Given the description of an element on the screen output the (x, y) to click on. 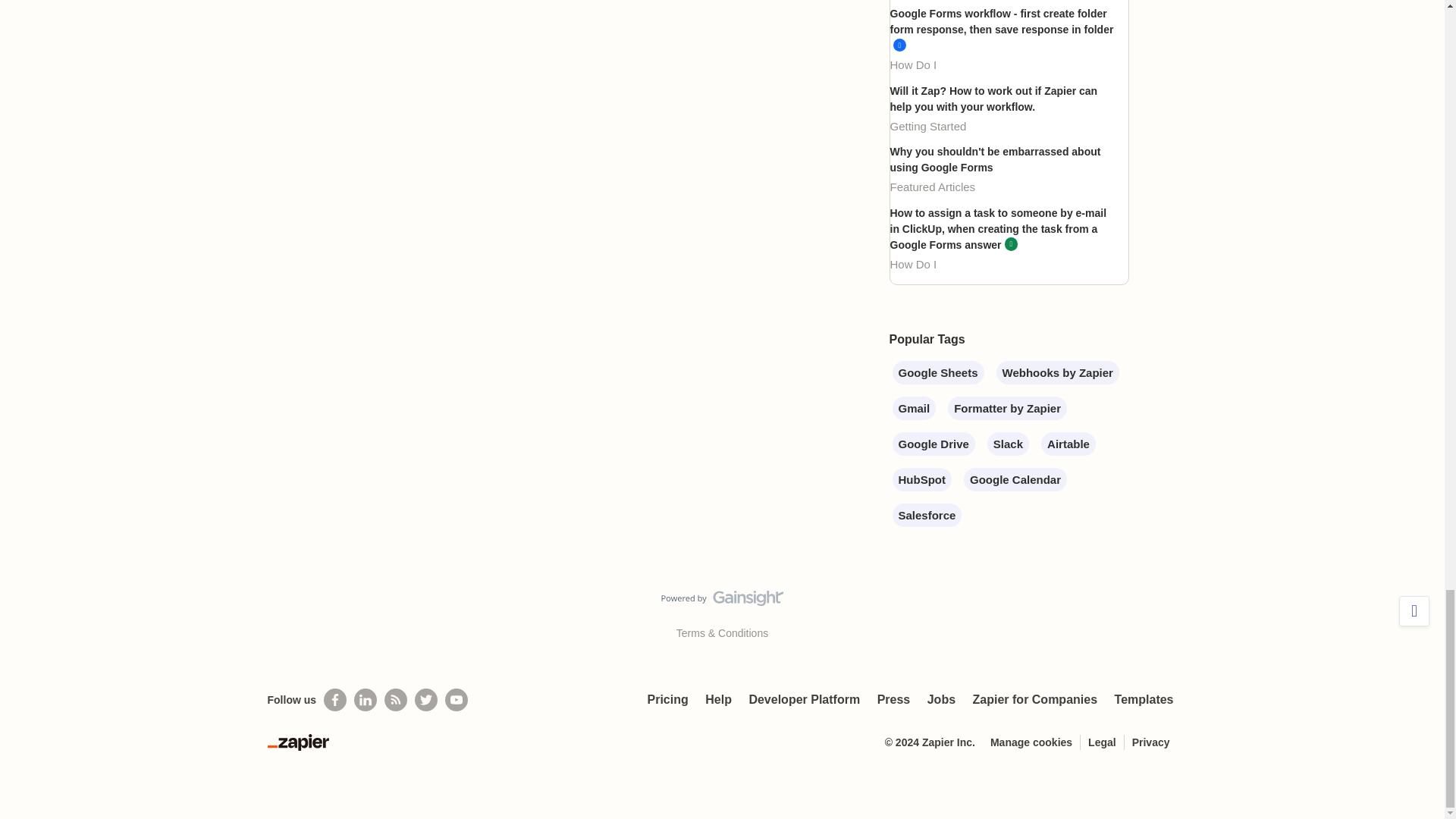
Visit Gainsight.com (722, 601)
Follow us on Facebook (334, 699)
Subscribe to our blog (395, 699)
Follow us on LinkedIn (365, 699)
Back to top (1414, 611)
See helpful Zapier videos on Youtube (456, 699)
